Given the description of an element on the screen output the (x, y) to click on. 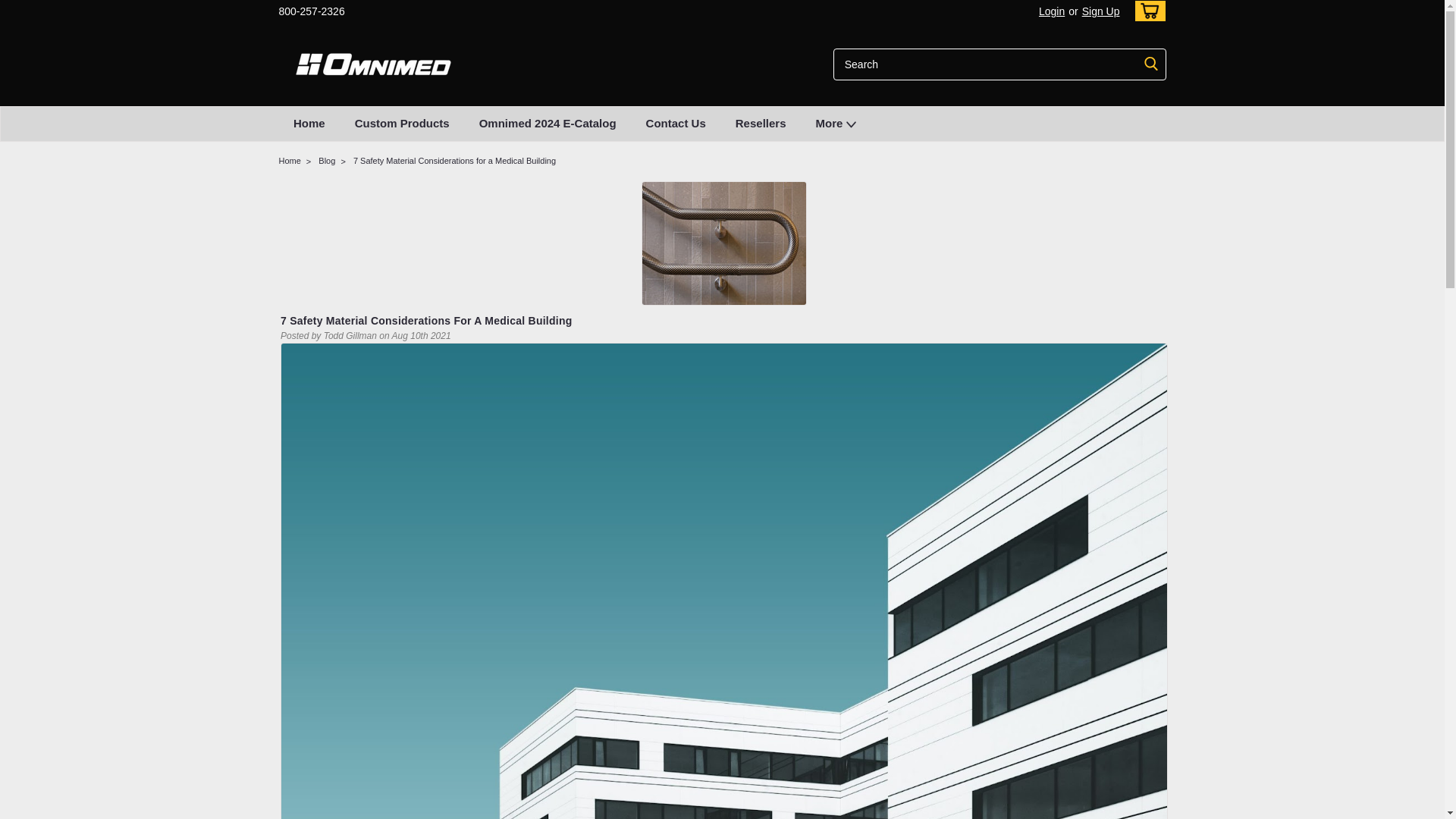
submit (1150, 63)
7 Safety Material Considerations for a Medical Building (724, 242)
Omnimed (373, 63)
Sign Up (1098, 11)
Login (1051, 11)
